Given the description of an element on the screen output the (x, y) to click on. 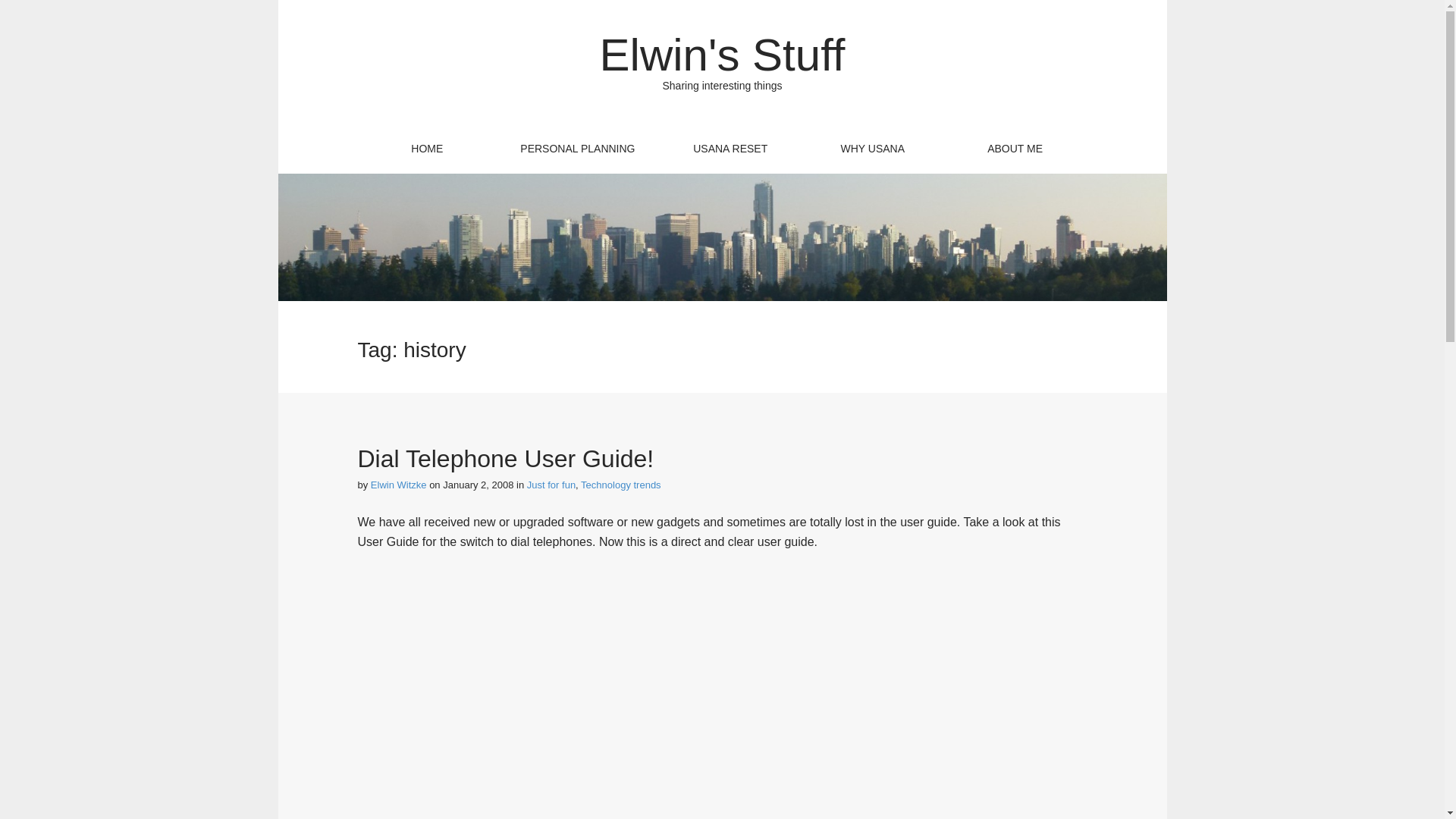
WHY USANA (872, 149)
Just for fun (551, 484)
HOME (427, 149)
Technology trends (620, 484)
Dial Telephone User Guide! (505, 458)
ABOUT ME (1014, 149)
Elwin's Stuff (722, 54)
Elwin Witzke (398, 484)
Posts by Elwin Witzke (398, 484)
January 2, 2008 (477, 484)
USANA RESET (730, 149)
Elwin's Stuff (722, 54)
PERSONAL PLANNING (577, 149)
